Given the description of an element on the screen output the (x, y) to click on. 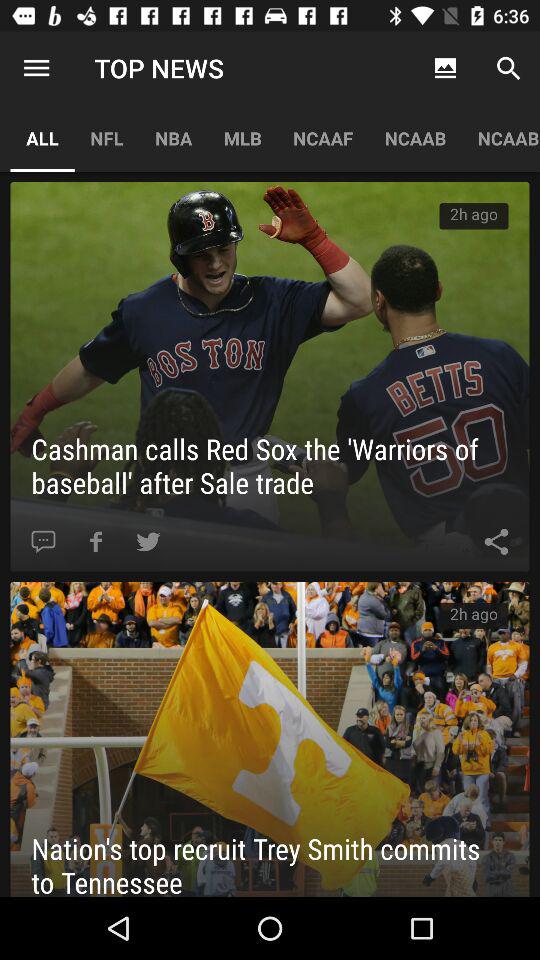
click the icon below the cashman calls red (496, 541)
